Given the description of an element on the screen output the (x, y) to click on. 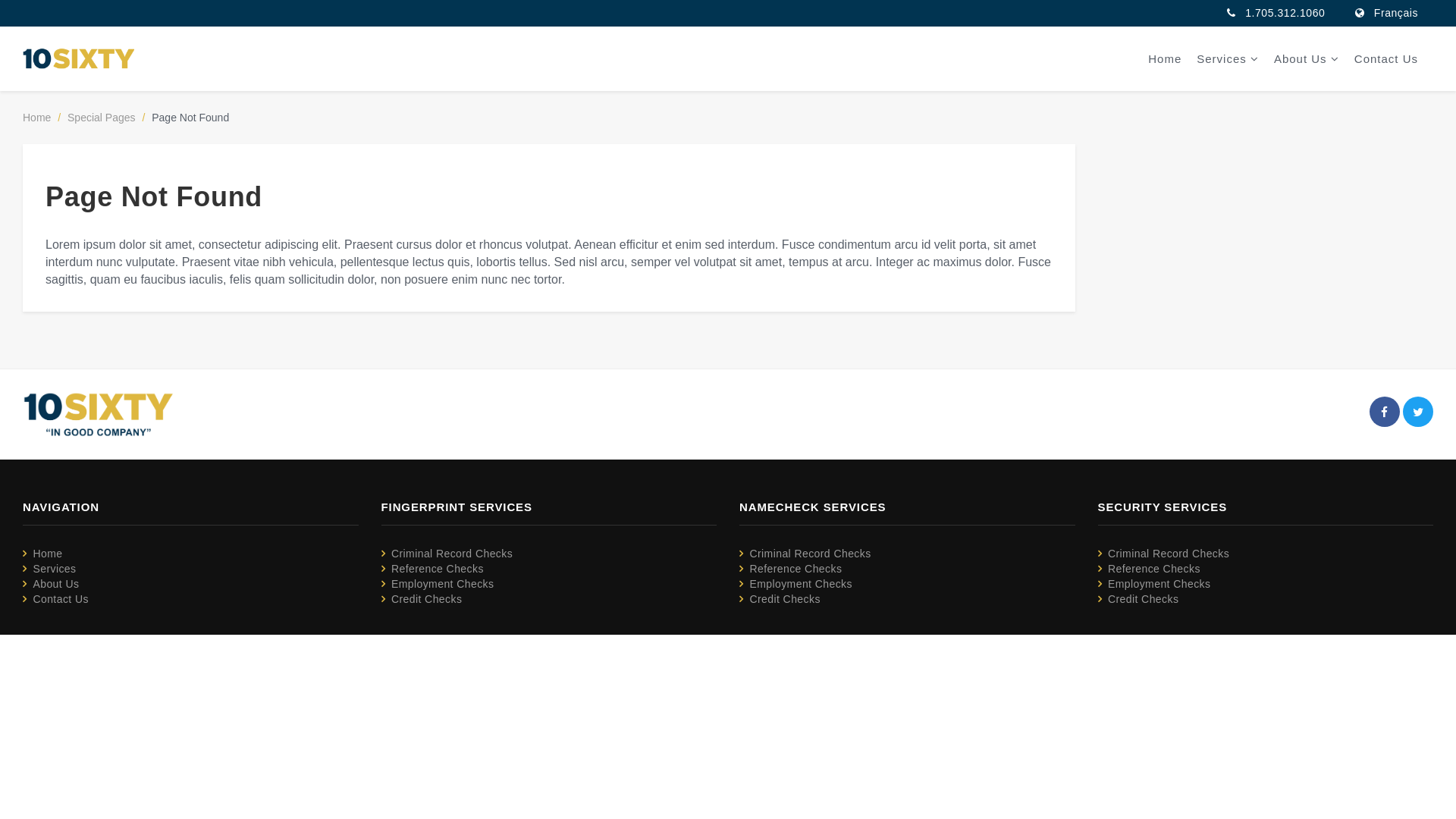
Home Element type: text (1164, 58)
Contact Us Element type: text (59, 599)
Services Element type: text (53, 568)
Contact Us Element type: text (1386, 58)
Services Element type: text (1227, 58)
Home Element type: text (47, 553)
Special Pages Element type: text (101, 117)
Home Element type: text (36, 117)
About Us Element type: text (1306, 58)
Facebook Element type: hover (1384, 411)
About Us Element type: text (55, 583)
Twitter Element type: hover (1417, 411)
